Given the description of an element on the screen output the (x, y) to click on. 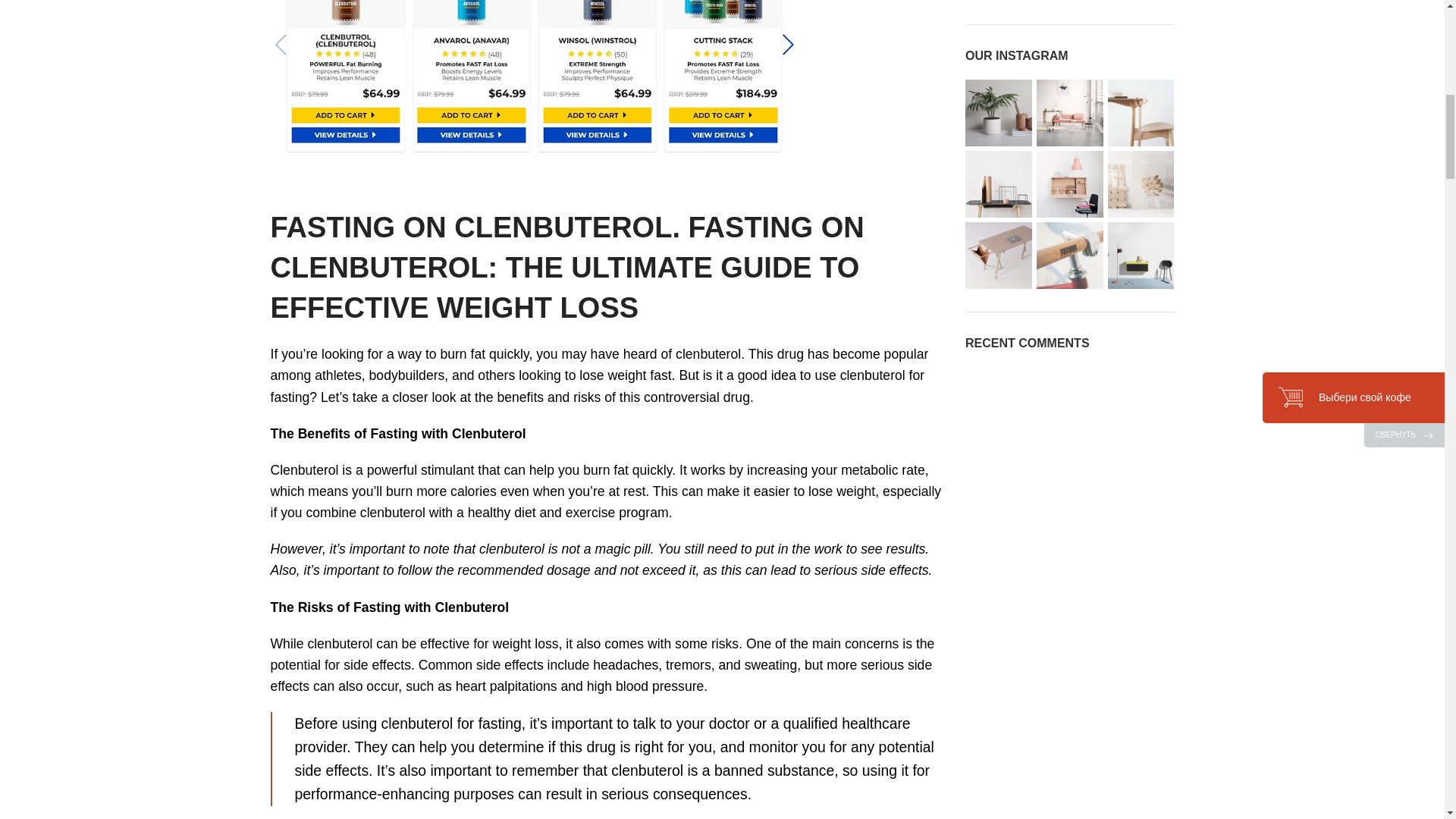
clenbuterol on fasting (534, 78)
